Given the description of an element on the screen output the (x, y) to click on. 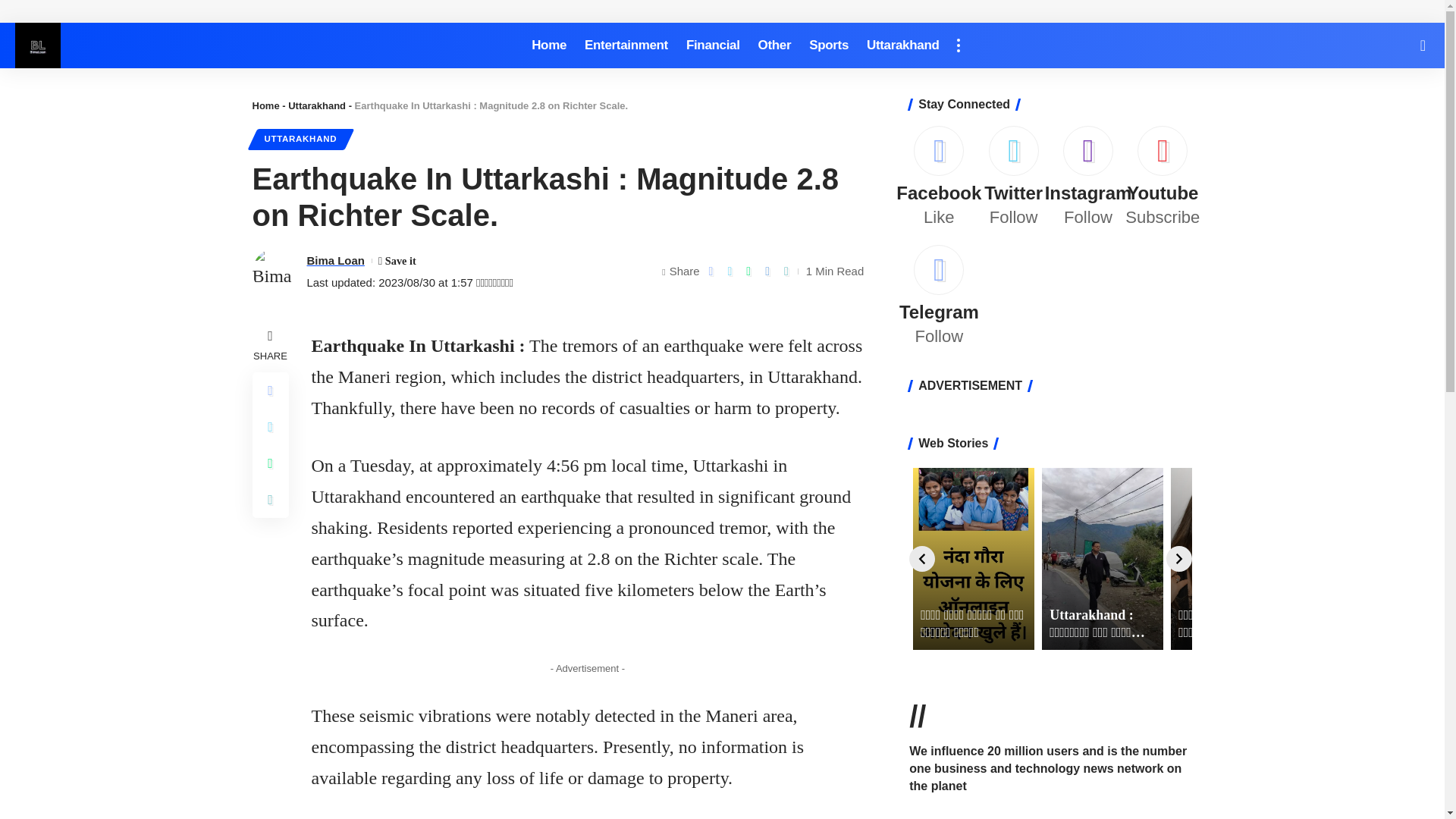
Uttarakhand (902, 44)
Financial (713, 44)
Entertainment (626, 44)
Home (548, 44)
Uttarakhand News  (37, 44)
Sports (828, 44)
Other (774, 44)
